Given the description of an element on the screen output the (x, y) to click on. 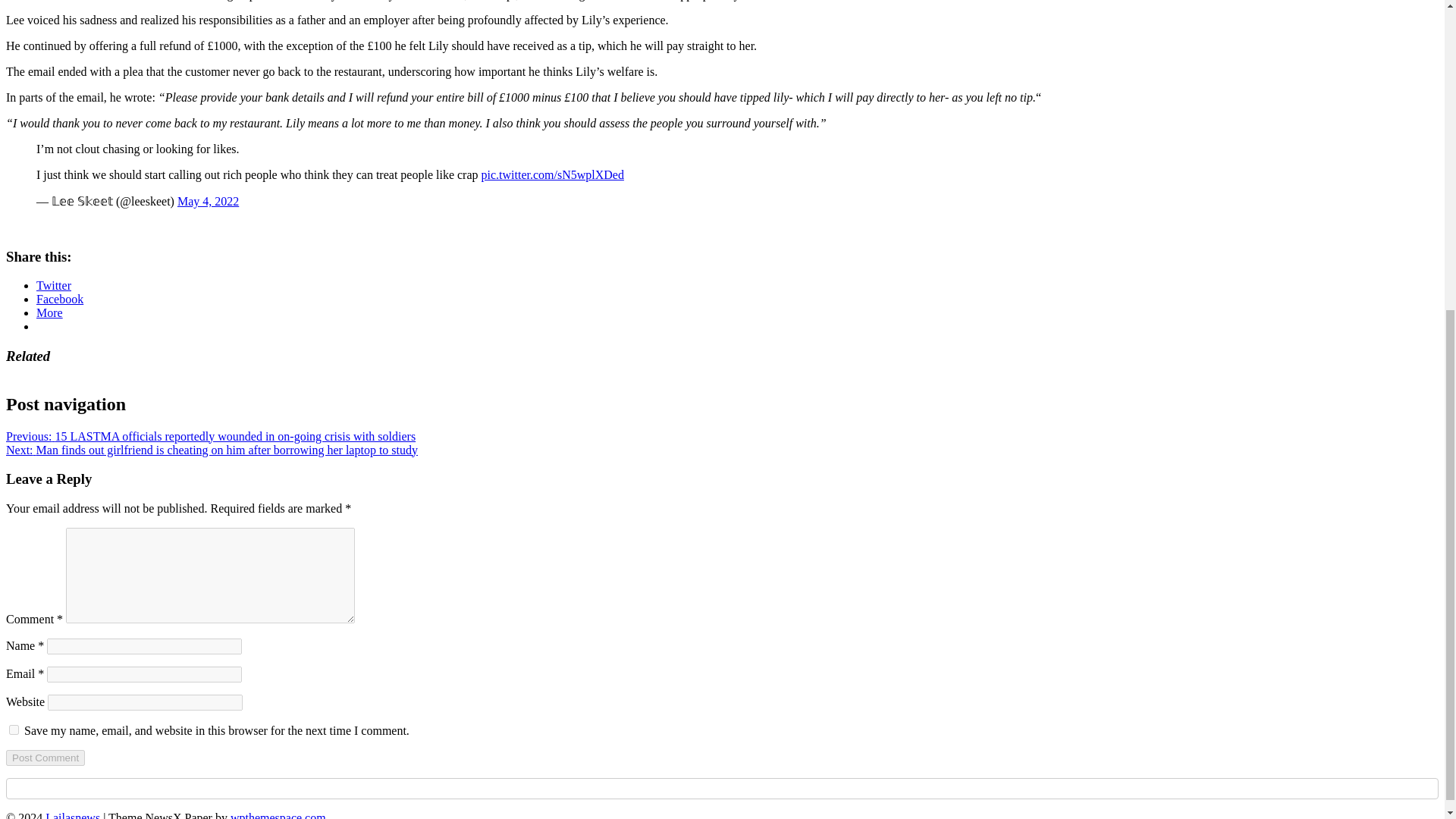
Facebook (59, 298)
Post Comment (44, 757)
Click to share on Facebook (59, 298)
May 4, 2022 (207, 201)
Click to share on Twitter (53, 285)
yes (13, 729)
Post Comment (44, 757)
Twitter (53, 285)
More (49, 312)
